Given the description of an element on the screen output the (x, y) to click on. 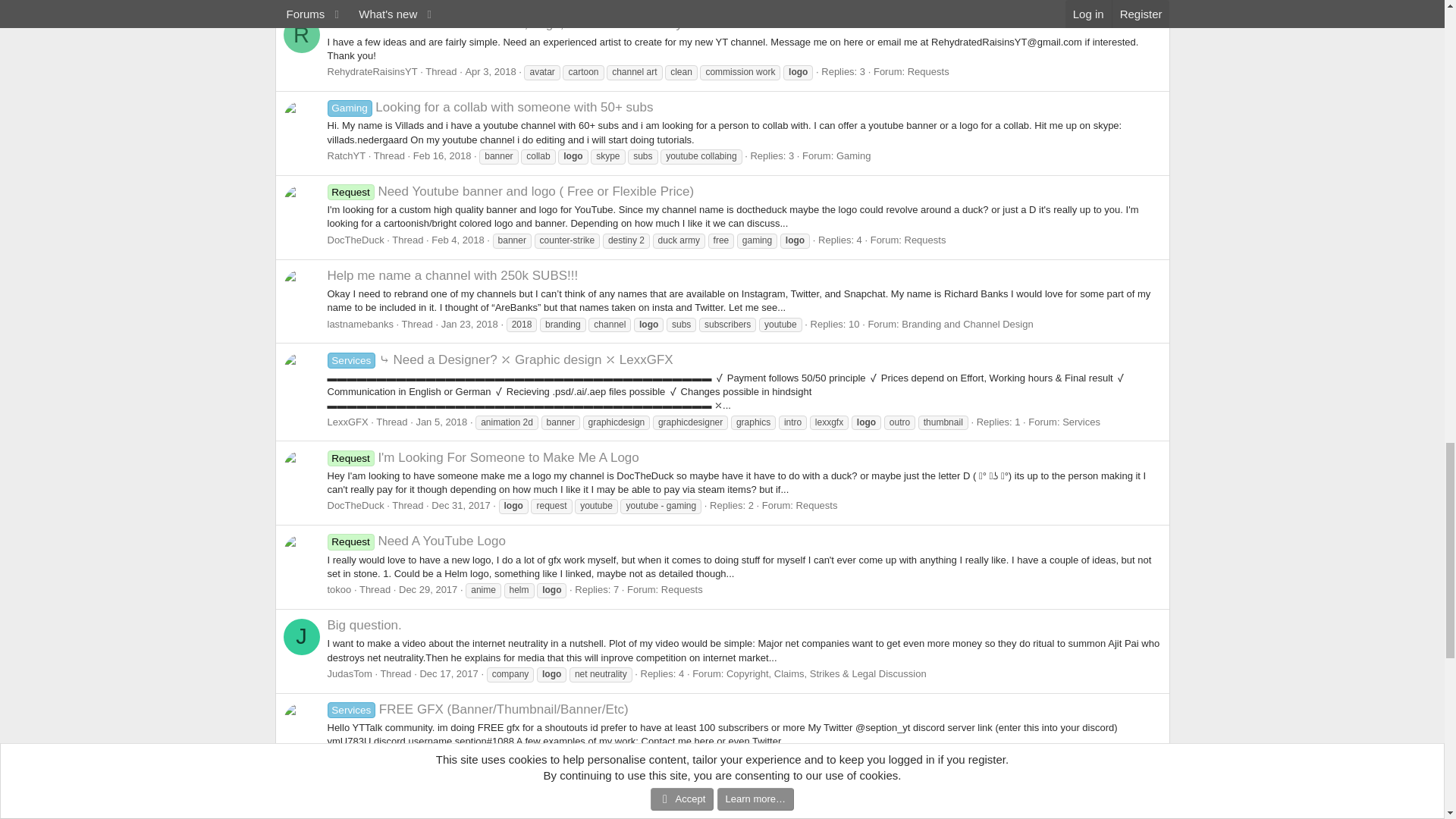
Feb 4, 2018 at 4:49 AM (456, 239)
Feb 16, 2018 at 11:24 AM (442, 155)
Apr 3, 2018 at 8:28 PM (489, 71)
